Given the description of an element on the screen output the (x, y) to click on. 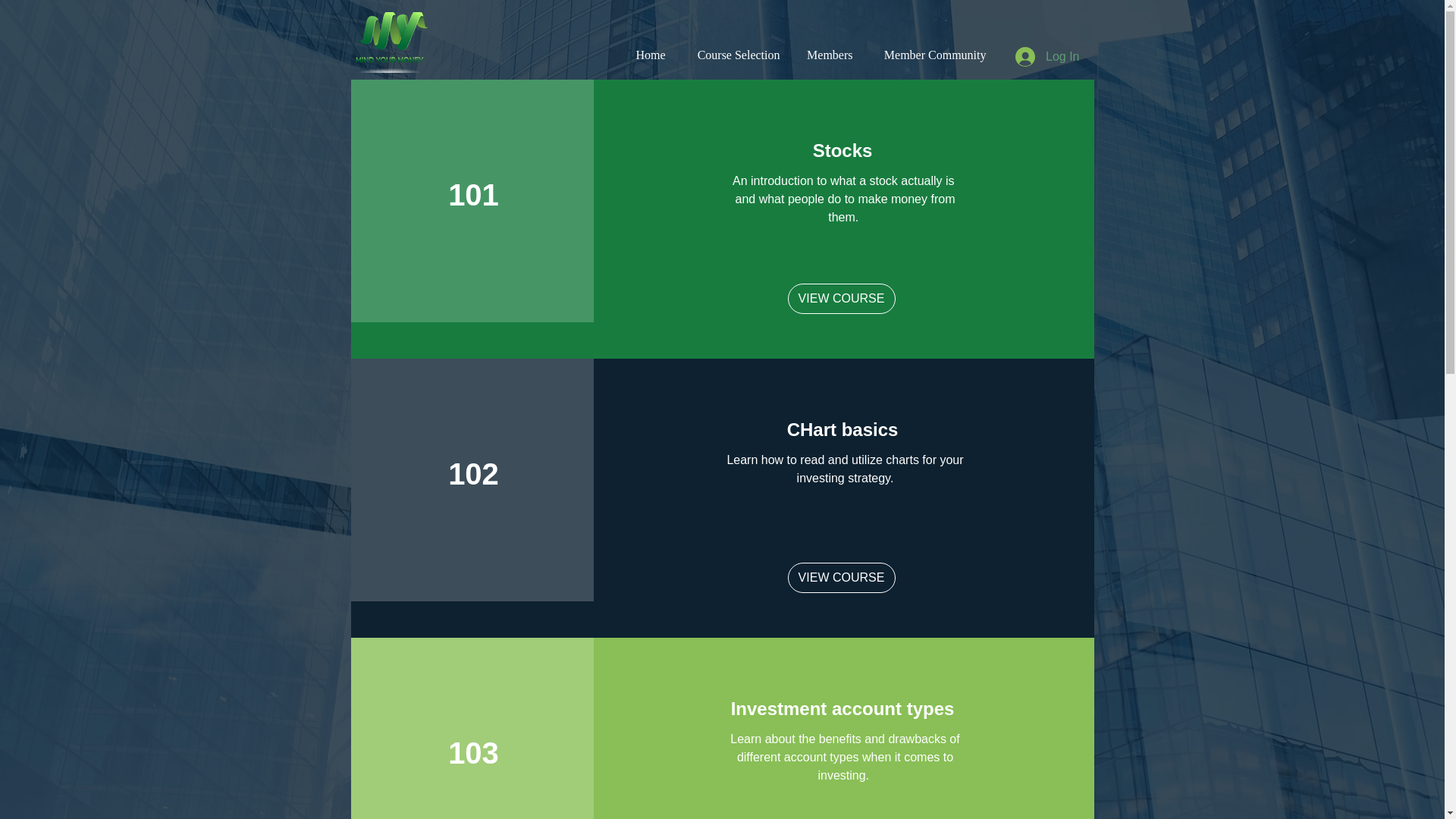
Log In (1046, 56)
Member Community (930, 55)
Course Selection (733, 55)
Members (828, 55)
VIEW COURSE (841, 577)
VIEW COURSE (841, 298)
Home (649, 55)
